Given the description of an element on the screen output the (x, y) to click on. 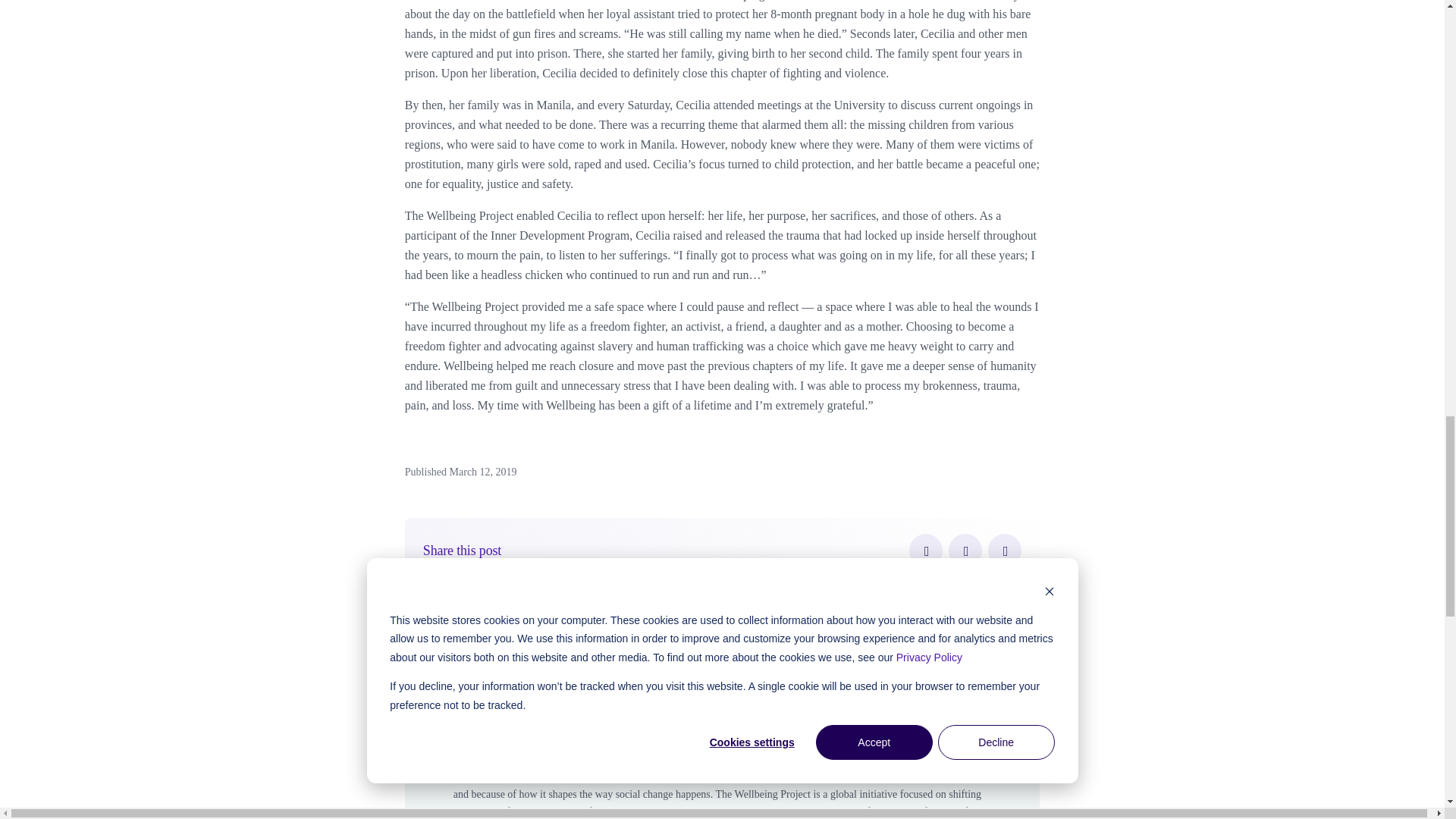
Facebook (925, 550)
Alice Gatignol (550, 680)
LinkedIn (1005, 550)
Twitter (965, 550)
